Given the description of an element on the screen output the (x, y) to click on. 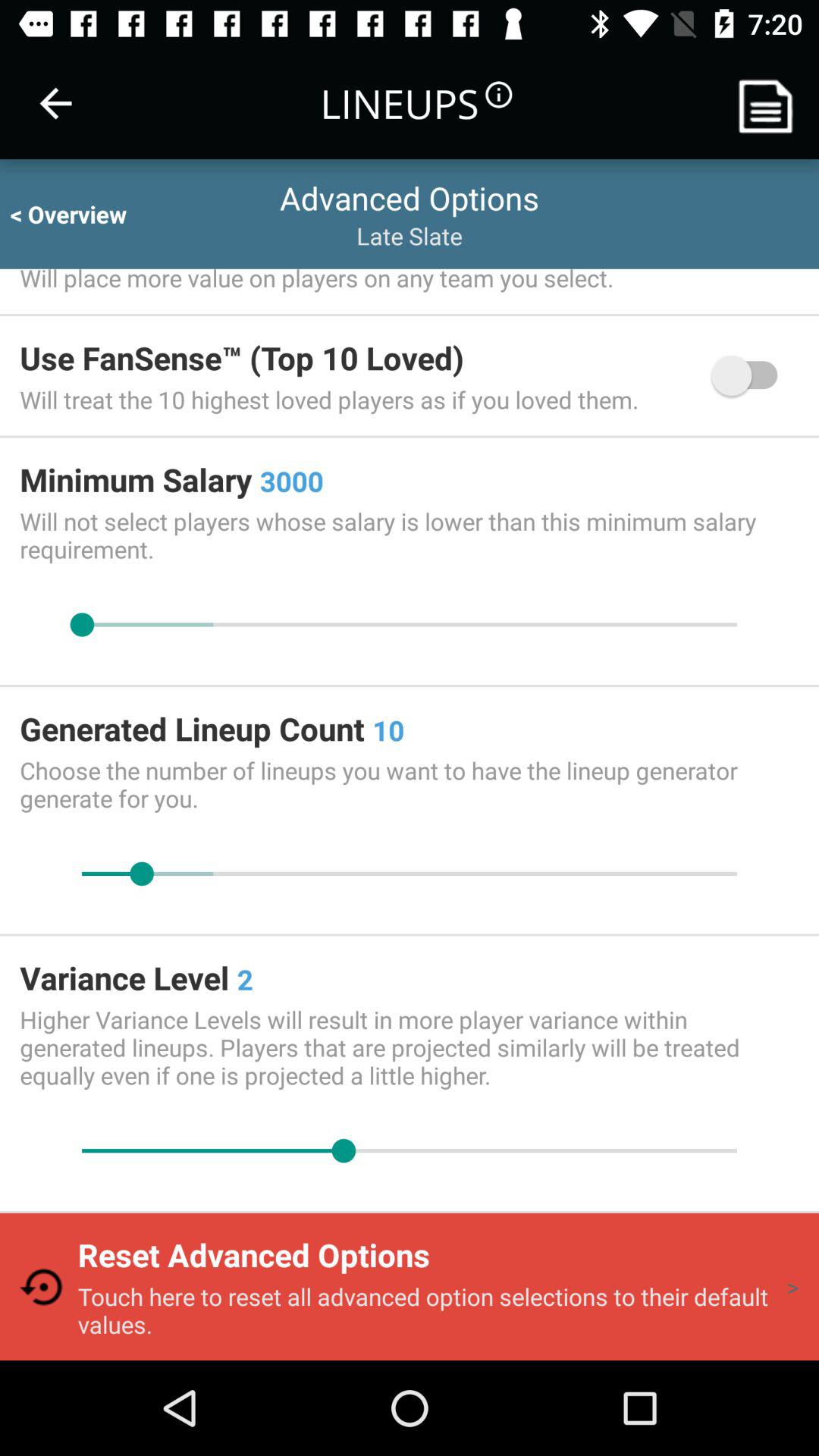
slide the cursor (409, 624)
